Given the description of an element on the screen output the (x, y) to click on. 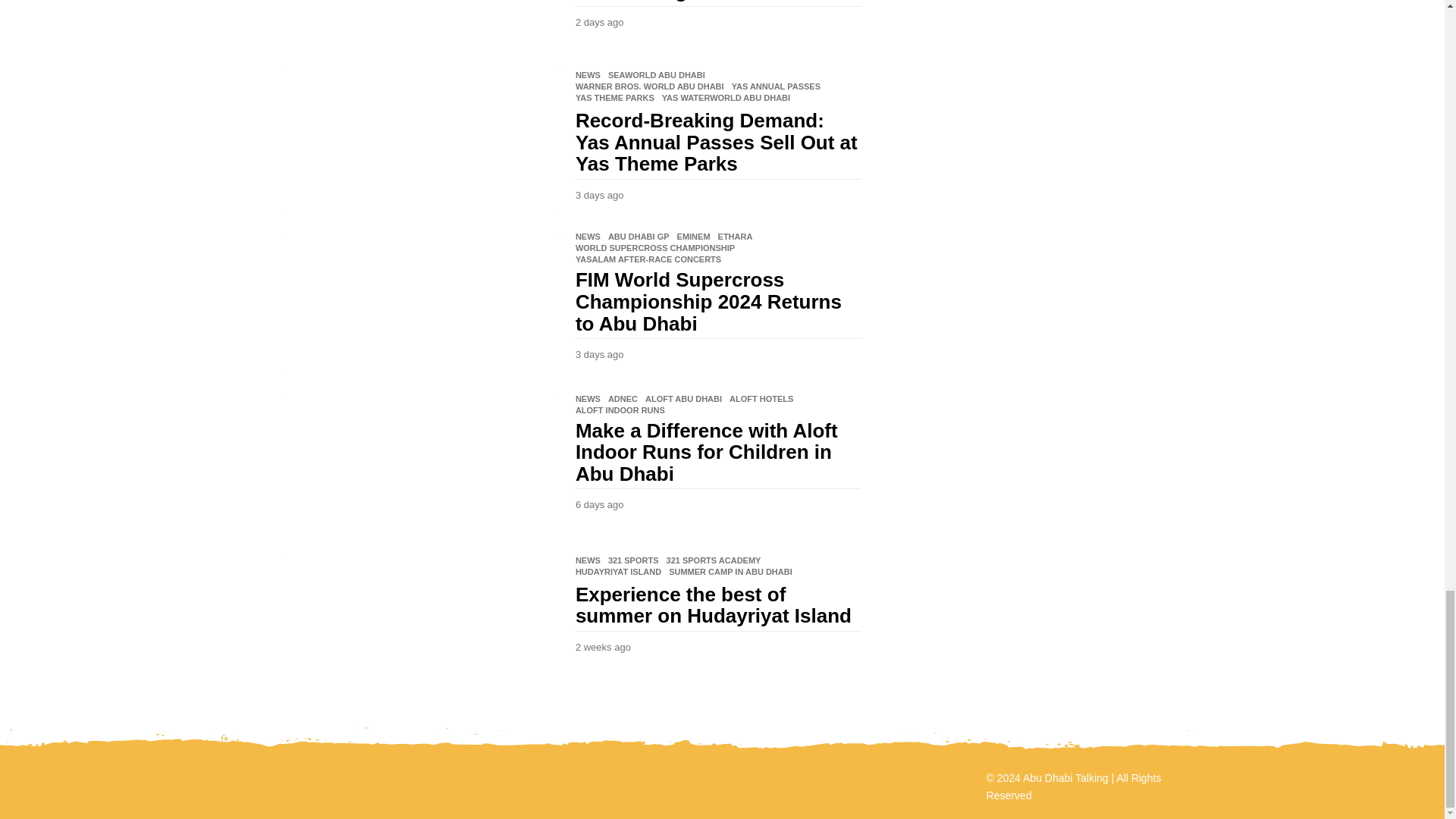
Experience the best of summer on Hudayriyat Island (420, 625)
FIM World Supercross Championship 2024 Returns to Abu Dhabi (420, 301)
